Given the description of an element on the screen output the (x, y) to click on. 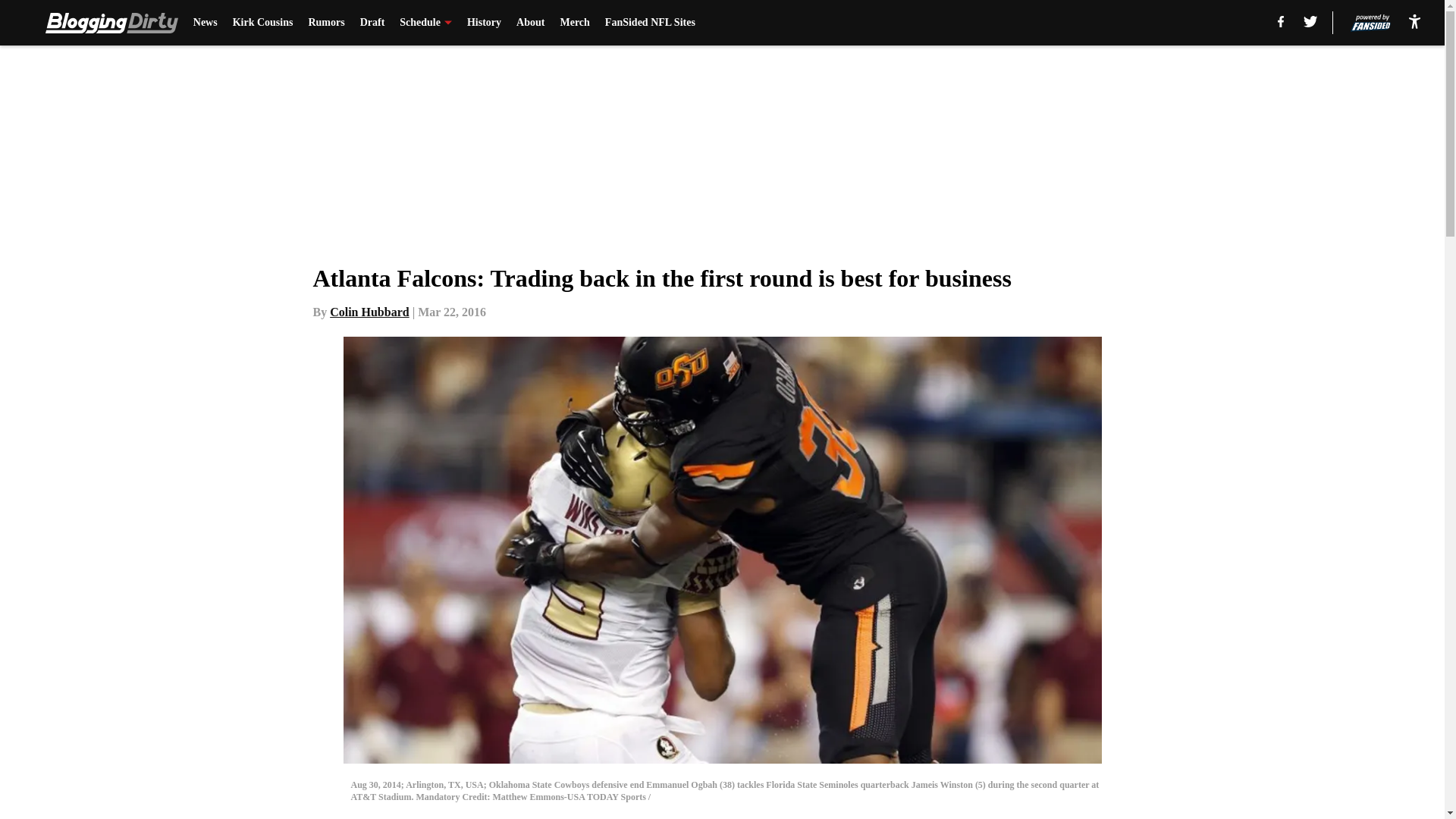
Draft (372, 22)
About (530, 22)
Colin Hubbard (369, 311)
History (483, 22)
Kirk Cousins (263, 22)
Rumors (325, 22)
Merch (574, 22)
News (204, 22)
FanSided NFL Sites (650, 22)
